Given the description of an element on the screen output the (x, y) to click on. 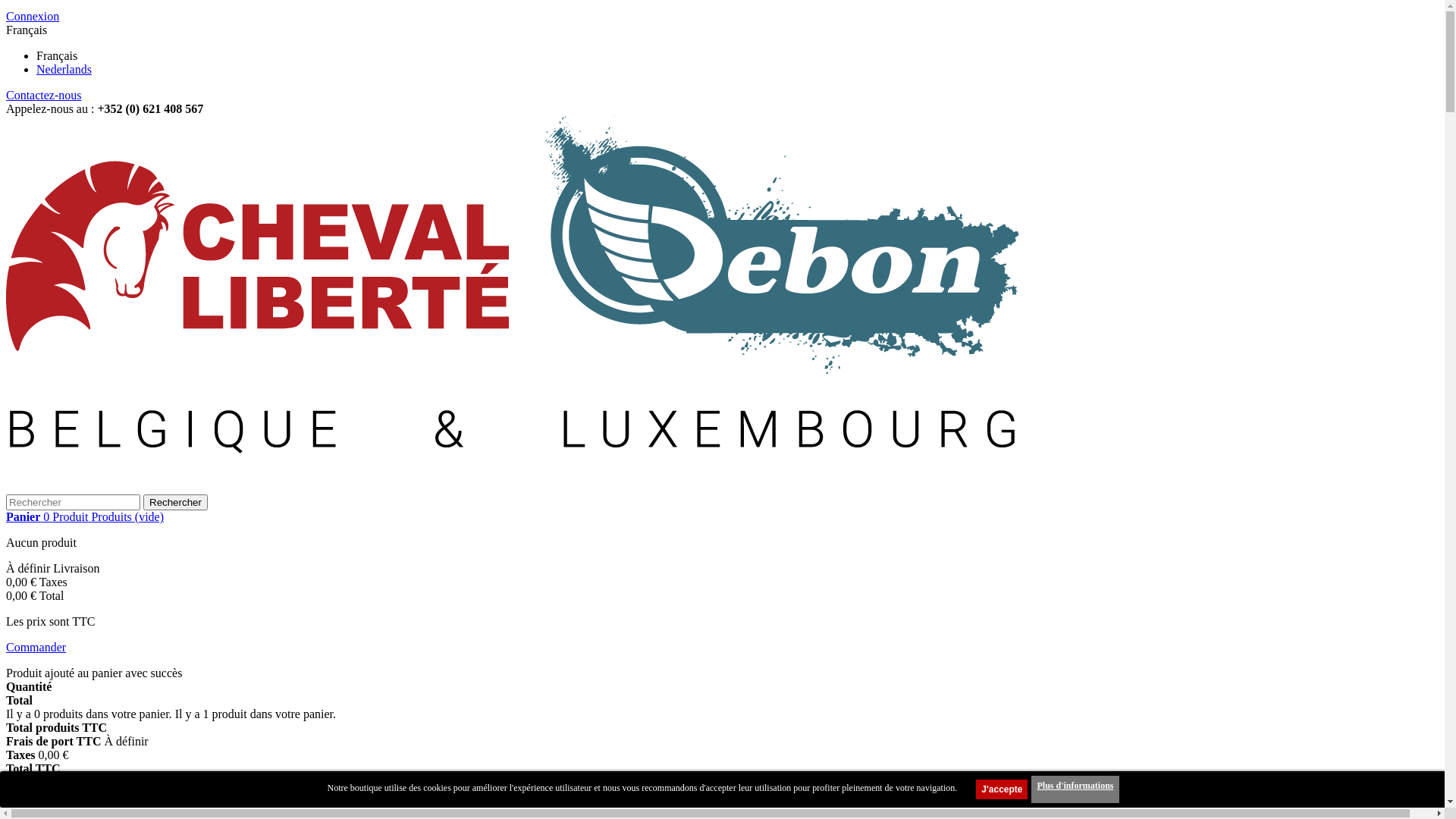
Commander Element type: text (143, 781)
Panier 0 Produit Produits (vide) Element type: text (84, 516)
Contactez-nous Element type: text (43, 94)
Plus d'informations Element type: text (1074, 789)
Nederlands Element type: text (63, 68)
Commander Element type: text (35, 646)
J'accepte Element type: text (1001, 789)
Connexion Element type: text (32, 15)
Rechercher Element type: text (175, 502)
